Given the description of an element on the screen output the (x, y) to click on. 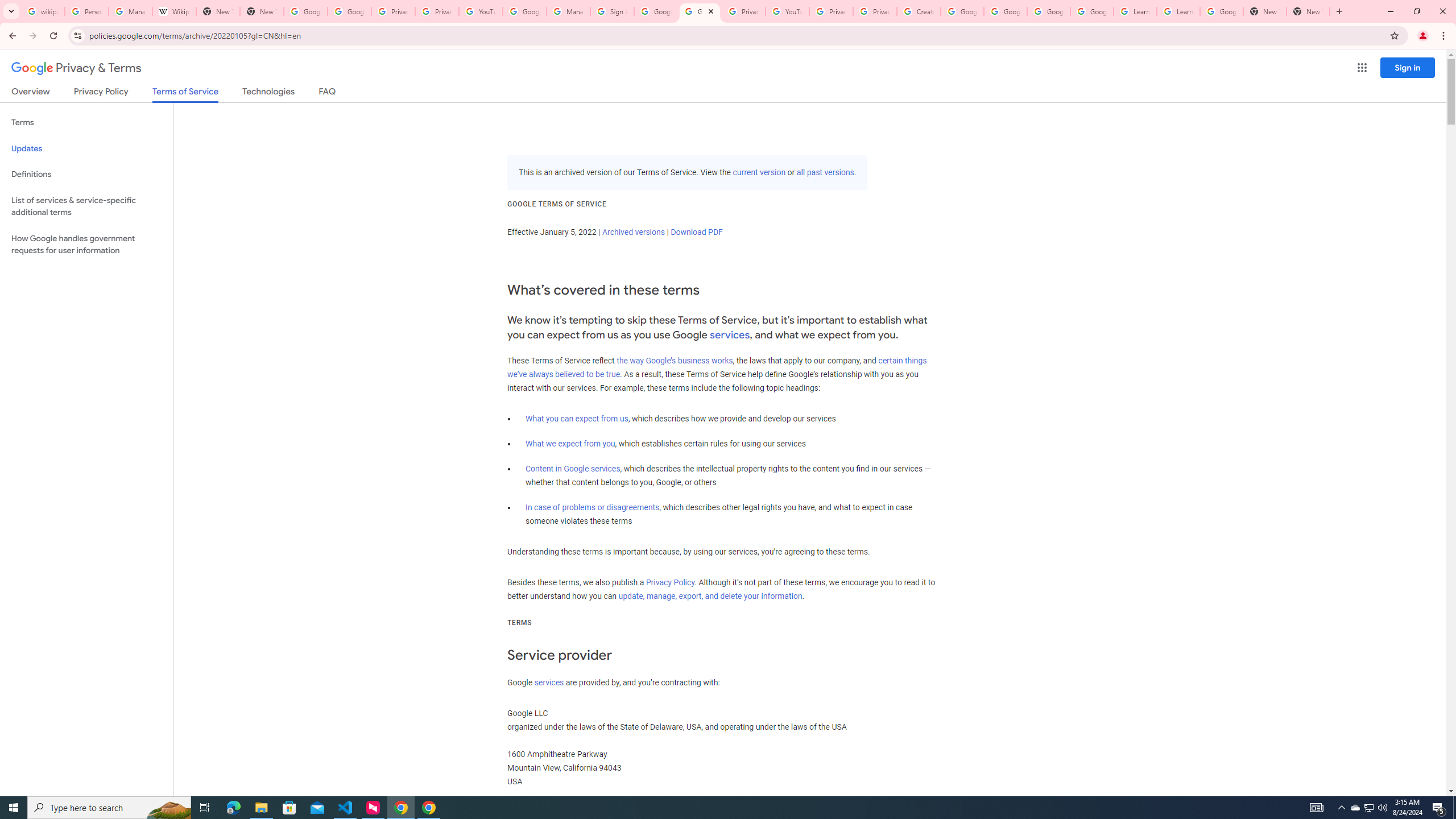
Google Account Help (962, 11)
update, manage, export, and delete your information (710, 596)
Google Account (1221, 11)
New Tab (1308, 11)
New Tab (261, 11)
all past versions (825, 172)
